Given the description of an element on the screen output the (x, y) to click on. 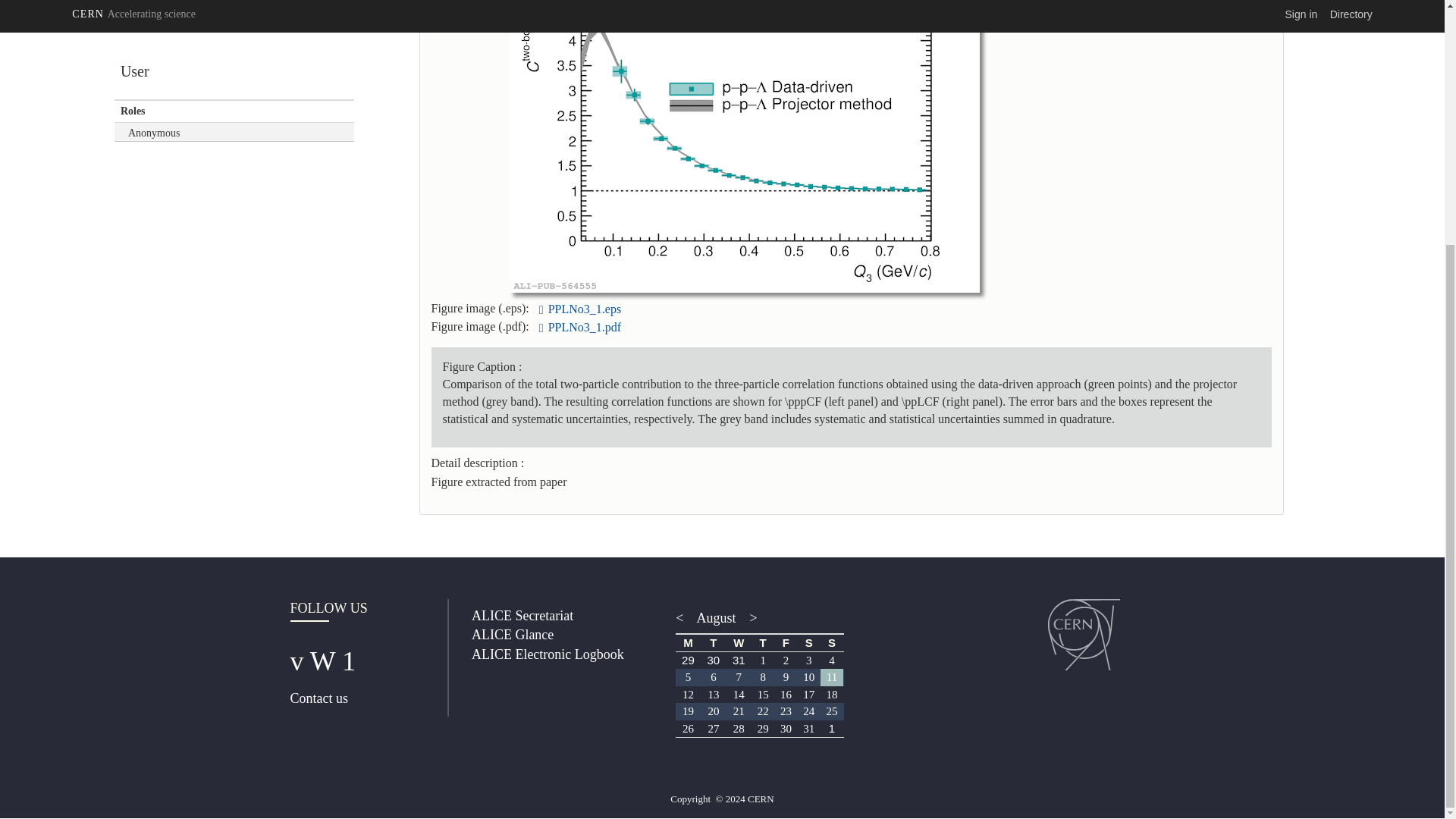
30 (713, 659)
Contact us (318, 698)
  August   (716, 617)
1 (763, 660)
Statistics (237, 4)
View full previous month (682, 617)
ALICE Secretariat (522, 615)
View full next month (749, 617)
Open file in new window (584, 327)
CERN (1083, 634)
